Given the description of an element on the screen output the (x, y) to click on. 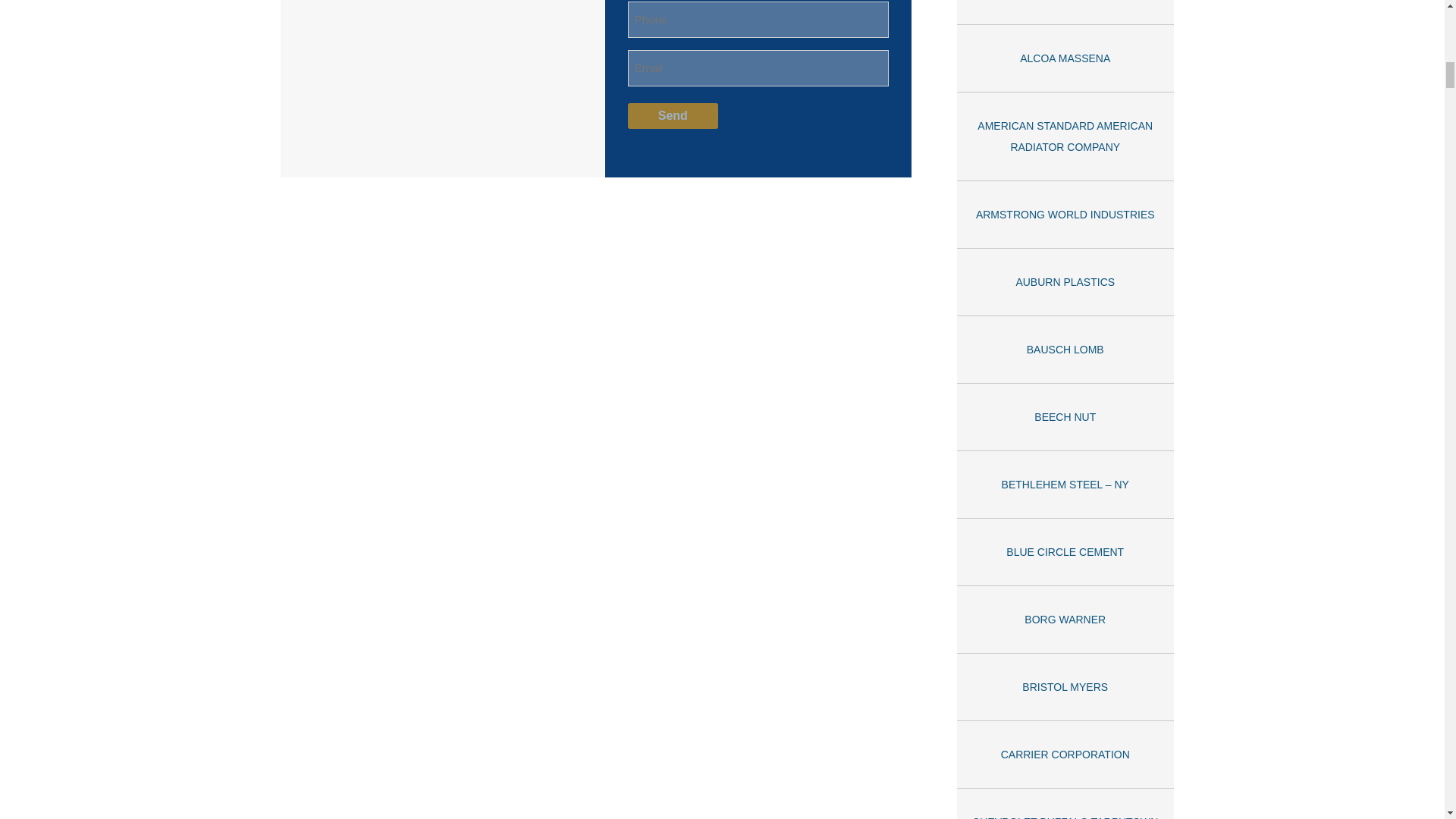
Send (672, 115)
